Given the description of an element on the screen output the (x, y) to click on. 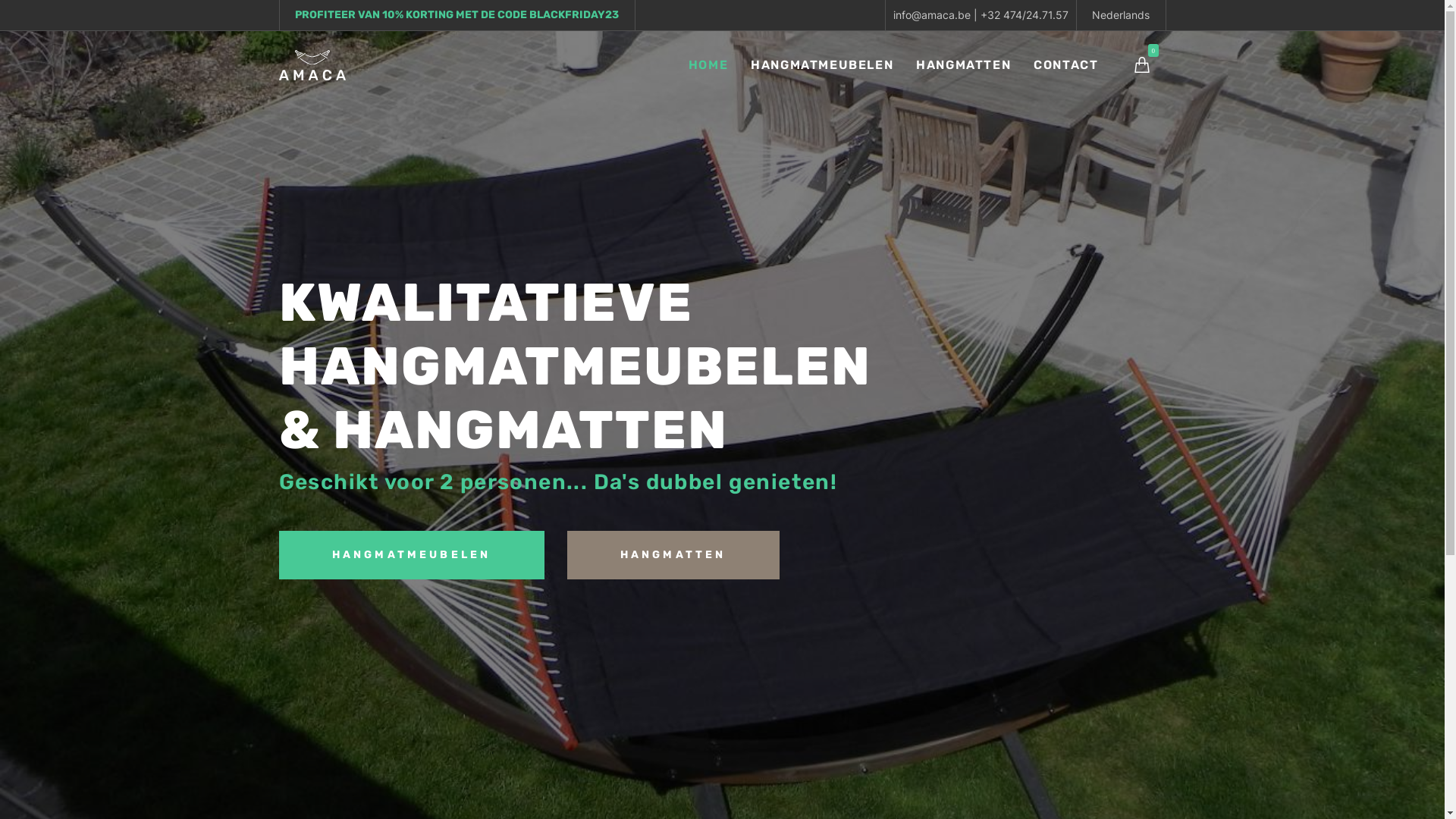
Amaca Element type: hover (312, 65)
+32 474/24.71.57 Element type: text (1023, 14)
0 Element type: text (1141, 64)
info@amaca.be Element type: text (931, 14)
CONTACT Element type: text (1065, 65)
PROFITEER VAN 10% KORTING MET DE CODE BLACKFRIDAY23 Element type: text (455, 15)
HANGMATMEUBELEN Element type: text (411, 554)
HANGMATMEUBELEN Element type: text (821, 65)
HOME Element type: text (708, 65)
HANGMATTEN Element type: text (673, 554)
Nederlands Element type: text (1120, 15)
HANGMATTEN Element type: text (963, 65)
